Given the description of an element on the screen output the (x, y) to click on. 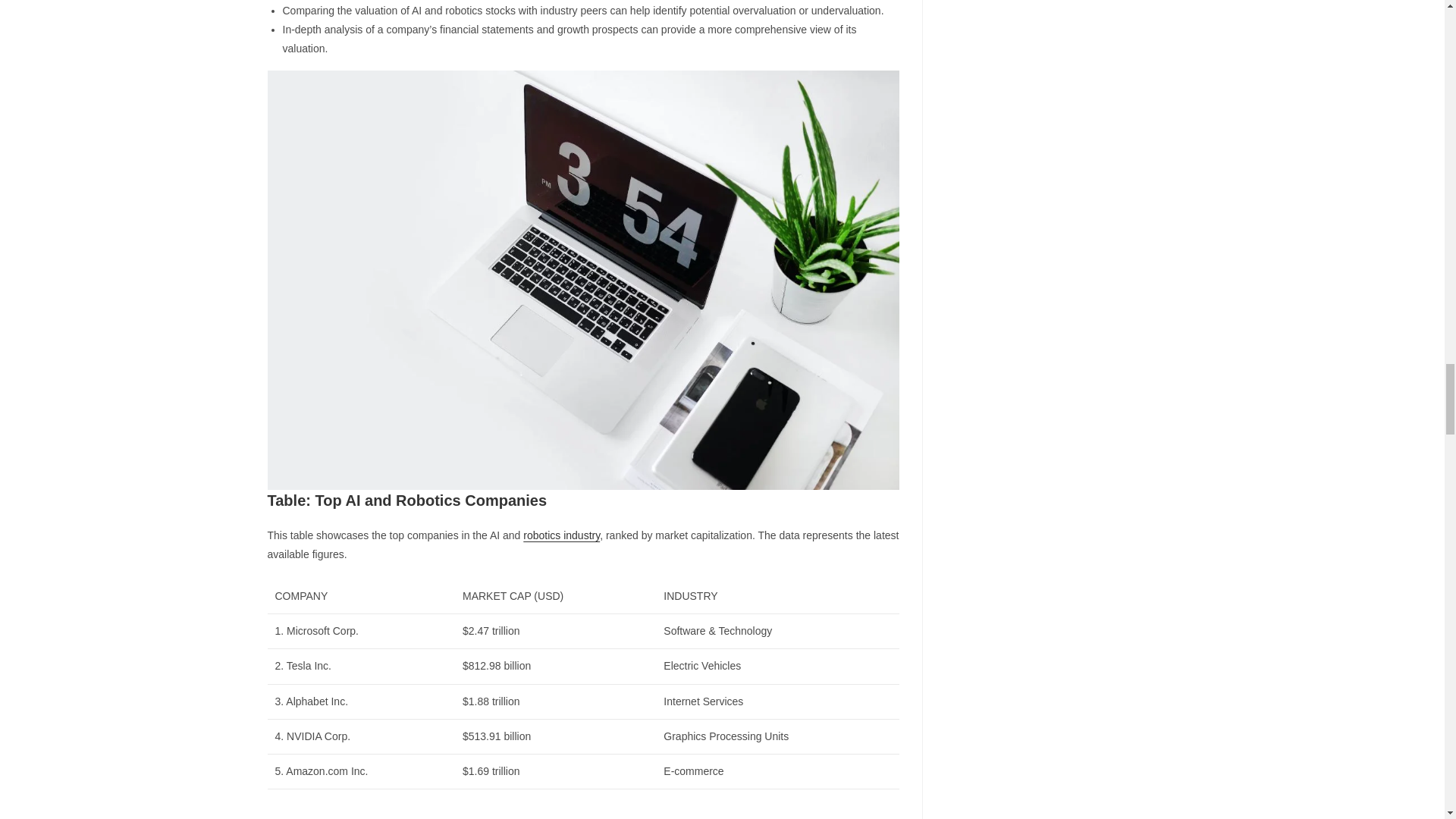
robotics industry (560, 535)
